Given the description of an element on the screen output the (x, y) to click on. 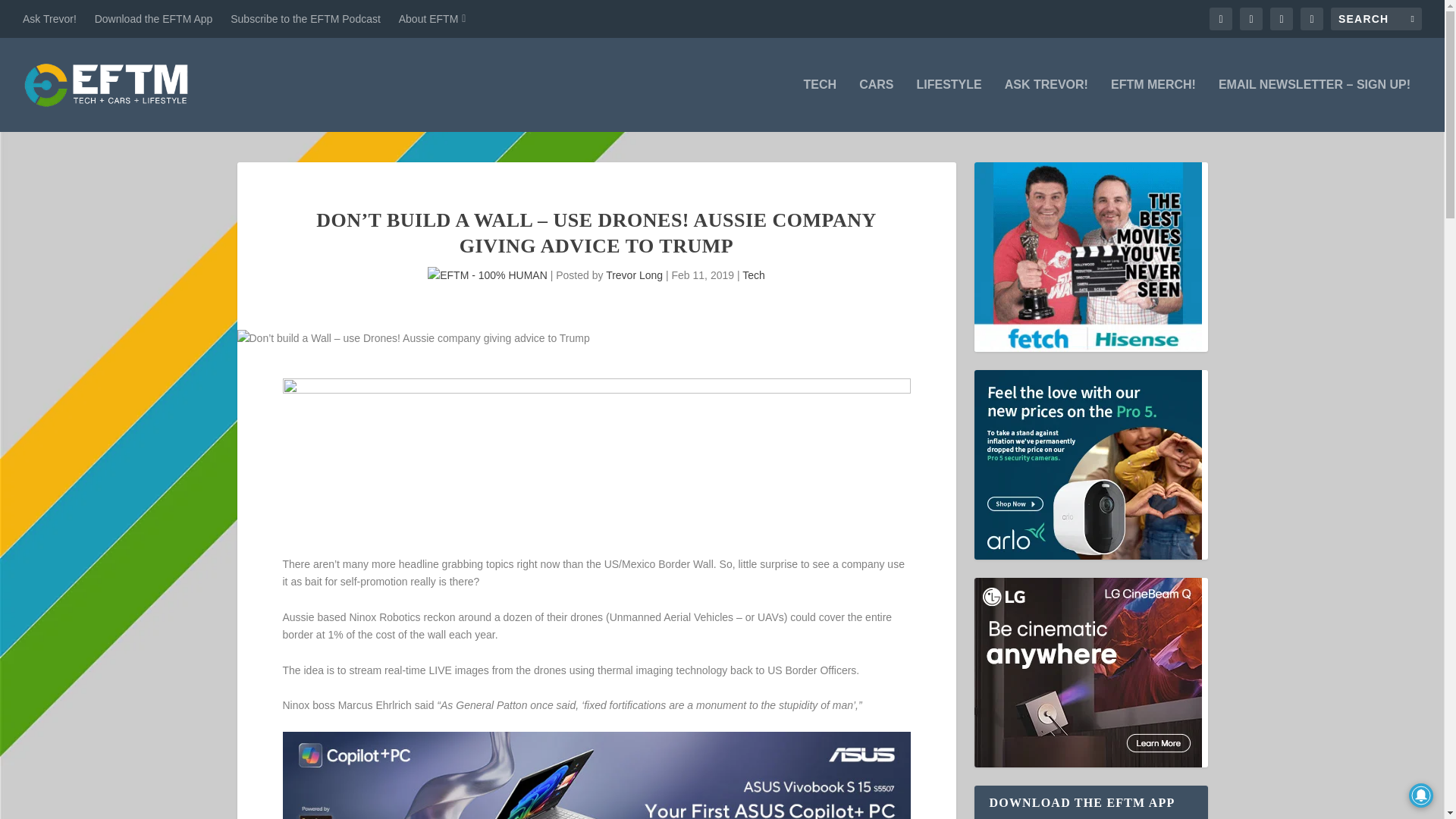
Subscribe to the EFTM Podcast (305, 18)
EFTM MERCH! (1152, 104)
Download the EFTM App (153, 18)
Search for: (1376, 18)
Posts by Trevor Long (633, 275)
Ask Trevor! (50, 18)
About EFTM (431, 18)
ASK TREVOR! (1045, 104)
LIFESTYLE (948, 104)
